Given the description of an element on the screen output the (x, y) to click on. 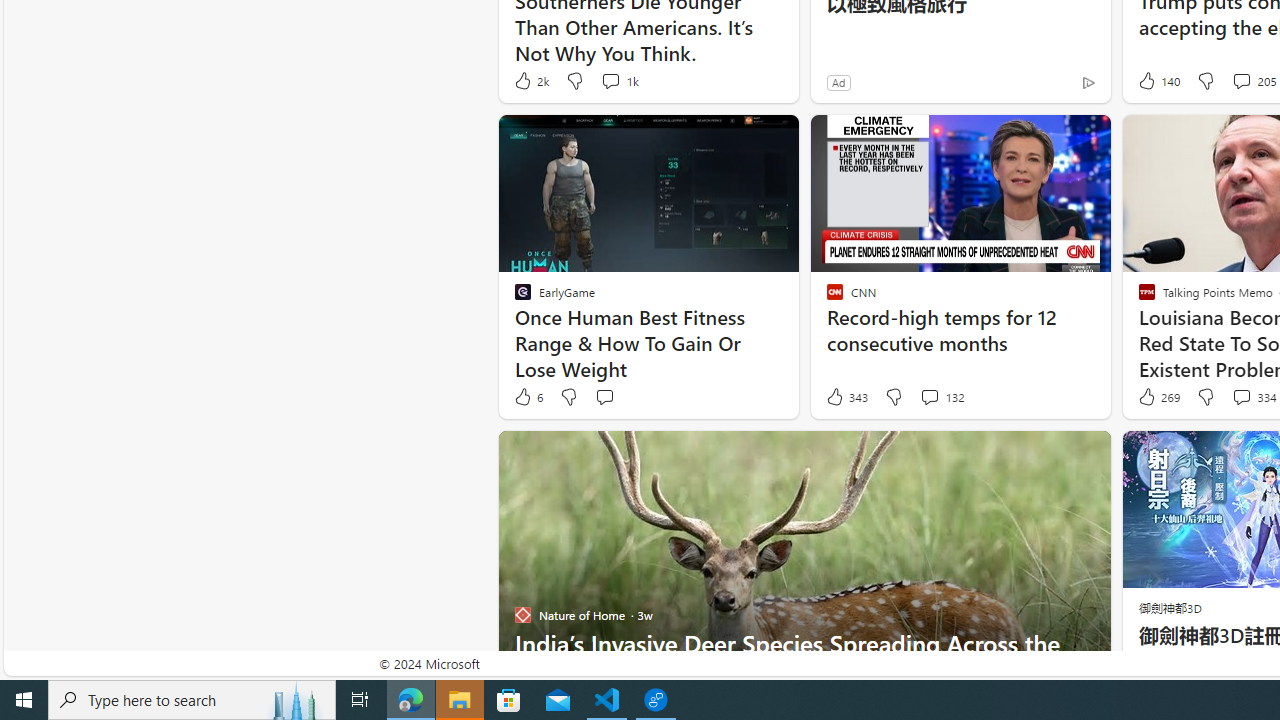
View comments 205 Comment (1241, 80)
View comments 1k Comment (610, 80)
View comments 132 Comment (941, 397)
269 Like (1157, 397)
View comments 132 Comment (929, 396)
